Given the description of an element on the screen output the (x, y) to click on. 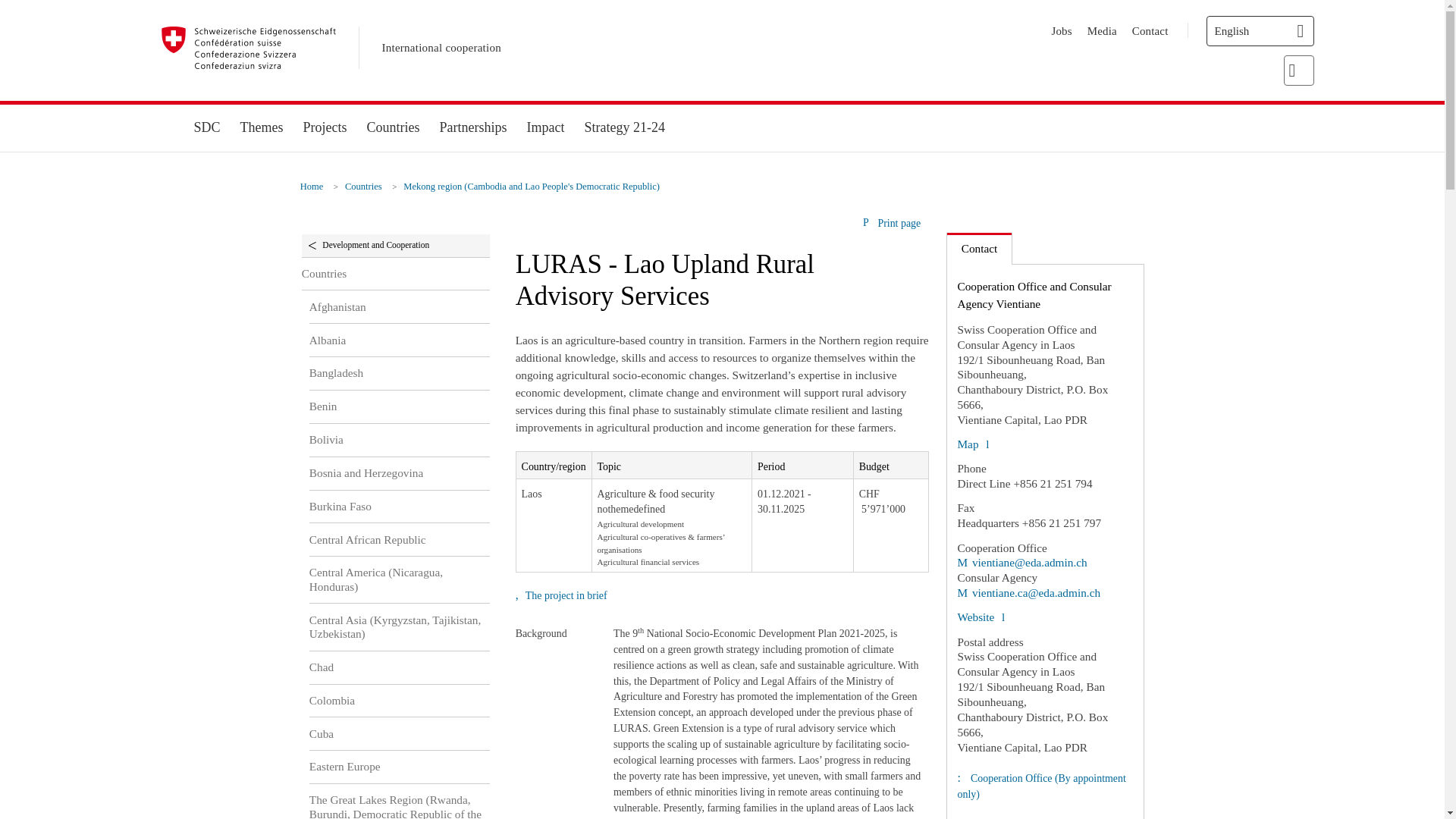
External Link (1021, 562)
SDC (206, 127)
External Link (1028, 592)
External Link (972, 443)
Themes (262, 127)
Jobs (1061, 30)
Media (1101, 30)
Contact (1150, 30)
External Link (980, 616)
International cooperation (440, 47)
